Given the description of an element on the screen output the (x, y) to click on. 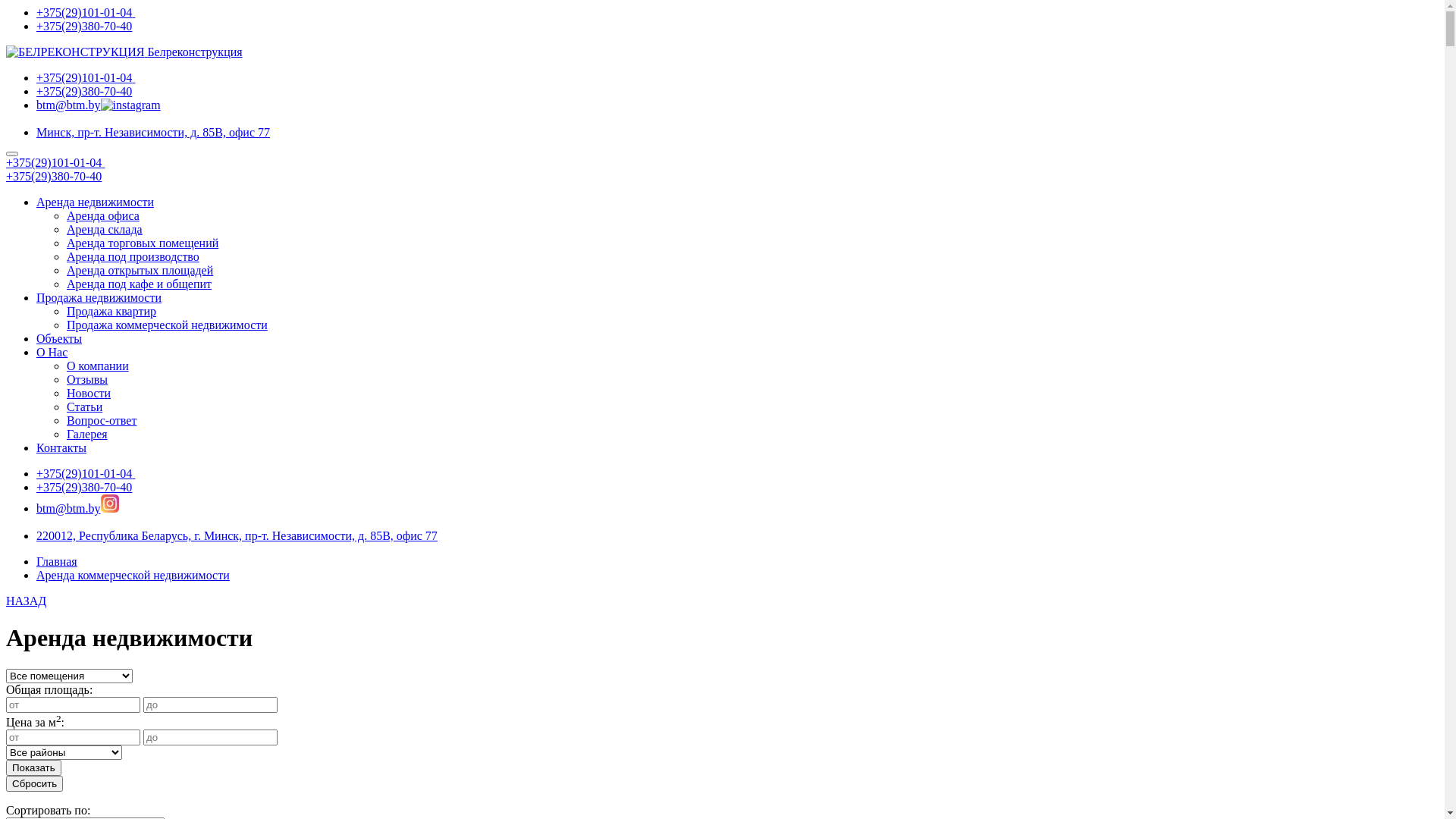
+375(29)380-70-40 Element type: text (53, 175)
+375(29)101-01-04  Element type: text (85, 473)
+375(29)380-70-40 Element type: text (83, 25)
btm@btm.by Element type: text (68, 508)
+375(29)101-01-04  Element type: text (55, 162)
instagram Element type: hover (130, 105)
btm@btm.by Element type: text (68, 104)
+375(29)101-01-04  Element type: text (85, 77)
+375(29)380-70-40 Element type: text (83, 90)
+375(29)380-70-40 Element type: text (83, 486)
instagram Element type: hover (109, 503)
+375(29)101-01-04  Element type: text (85, 12)
